Given the description of an element on the screen output the (x, y) to click on. 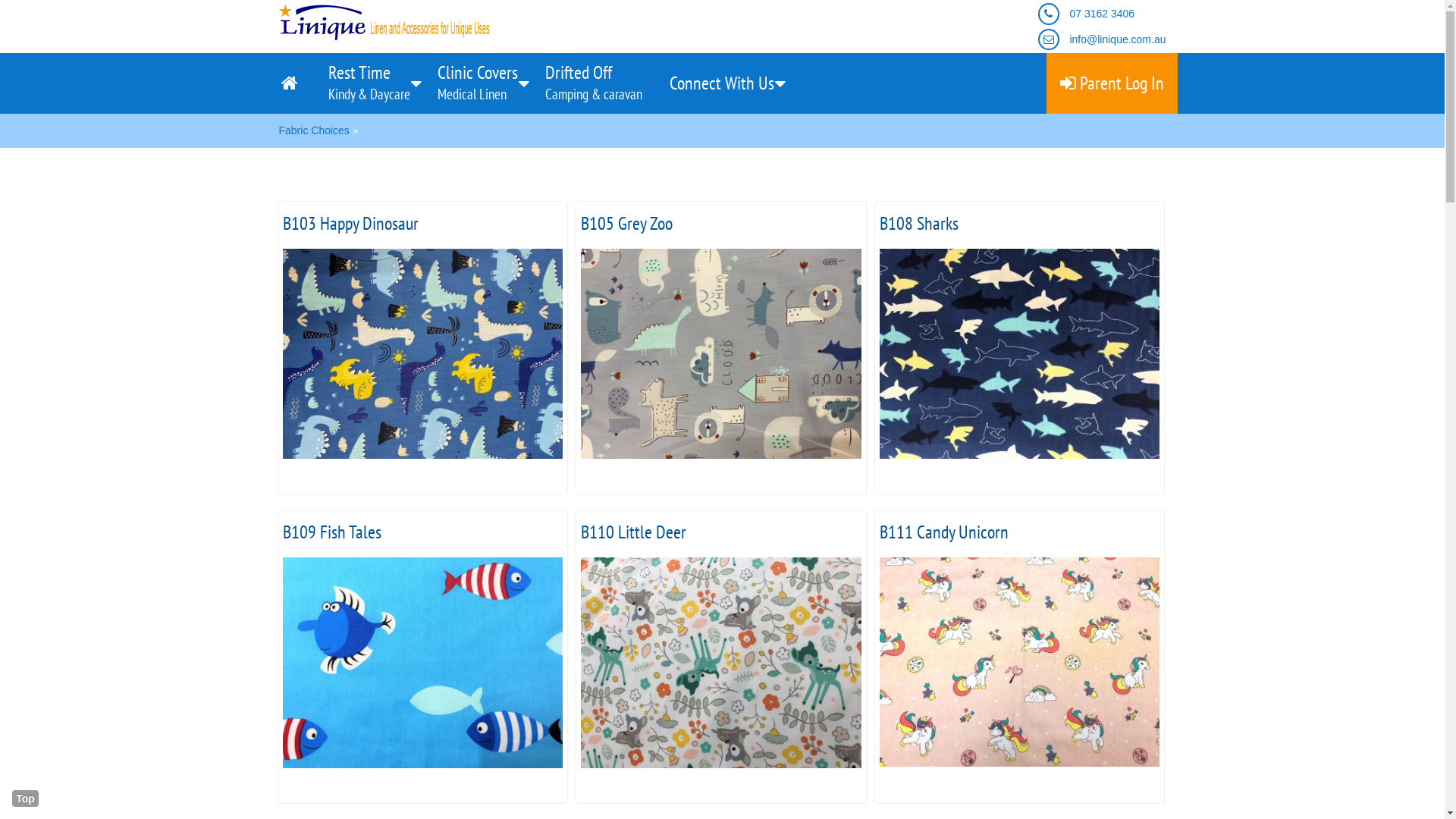
B103 Happy Dinosaur Element type: hover (422, 352)
Drifted Off
Camping & caravan Element type: text (592, 83)
Top Element type: text (25, 798)
B105 Grey Zoo Element type: hover (720, 352)
B111 Candy Unicorn Element type: hover (1019, 661)
Clinic Covers
Medical Linen Element type: text (476, 83)
B110 Little Deer Element type: hover (720, 661)
info@linique.com.au Element type: text (1117, 39)
Rest Time
Kindy & Daycare Element type: text (368, 83)
Parent Log In Element type: text (1111, 83)
B108 Sharks Element type: hover (1019, 352)
07 3162 3406 Element type: text (1101, 13)
B109 Fish Tales Element type: hover (422, 661)
Home Element type: text (289, 83)
Connect With Us Element type: text (721, 83)
Fabric Choices Element type: text (314, 130)
